Given the description of an element on the screen output the (x, y) to click on. 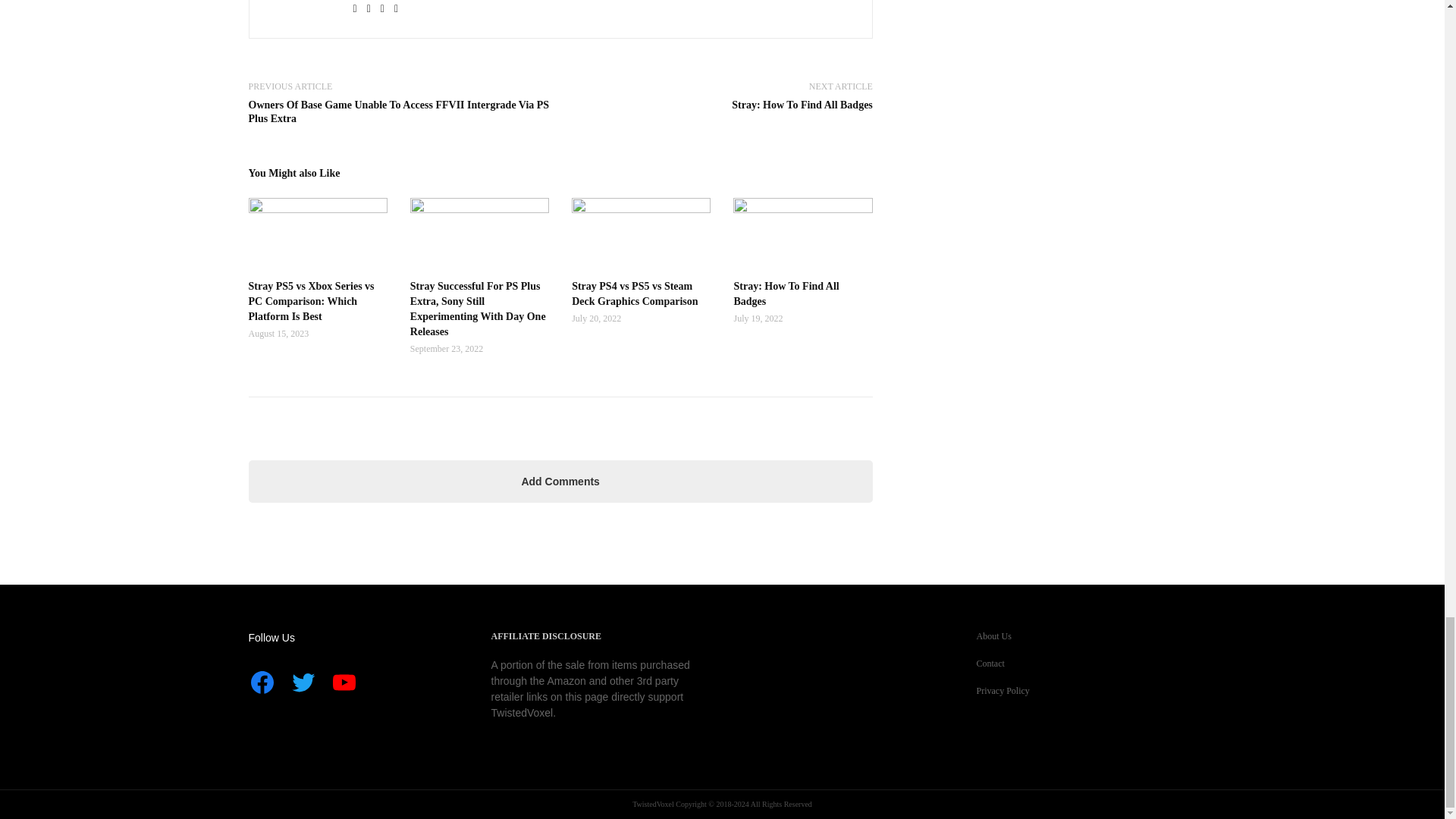
Stray: How To Find All Badges (802, 104)
